Given the description of an element on the screen output the (x, y) to click on. 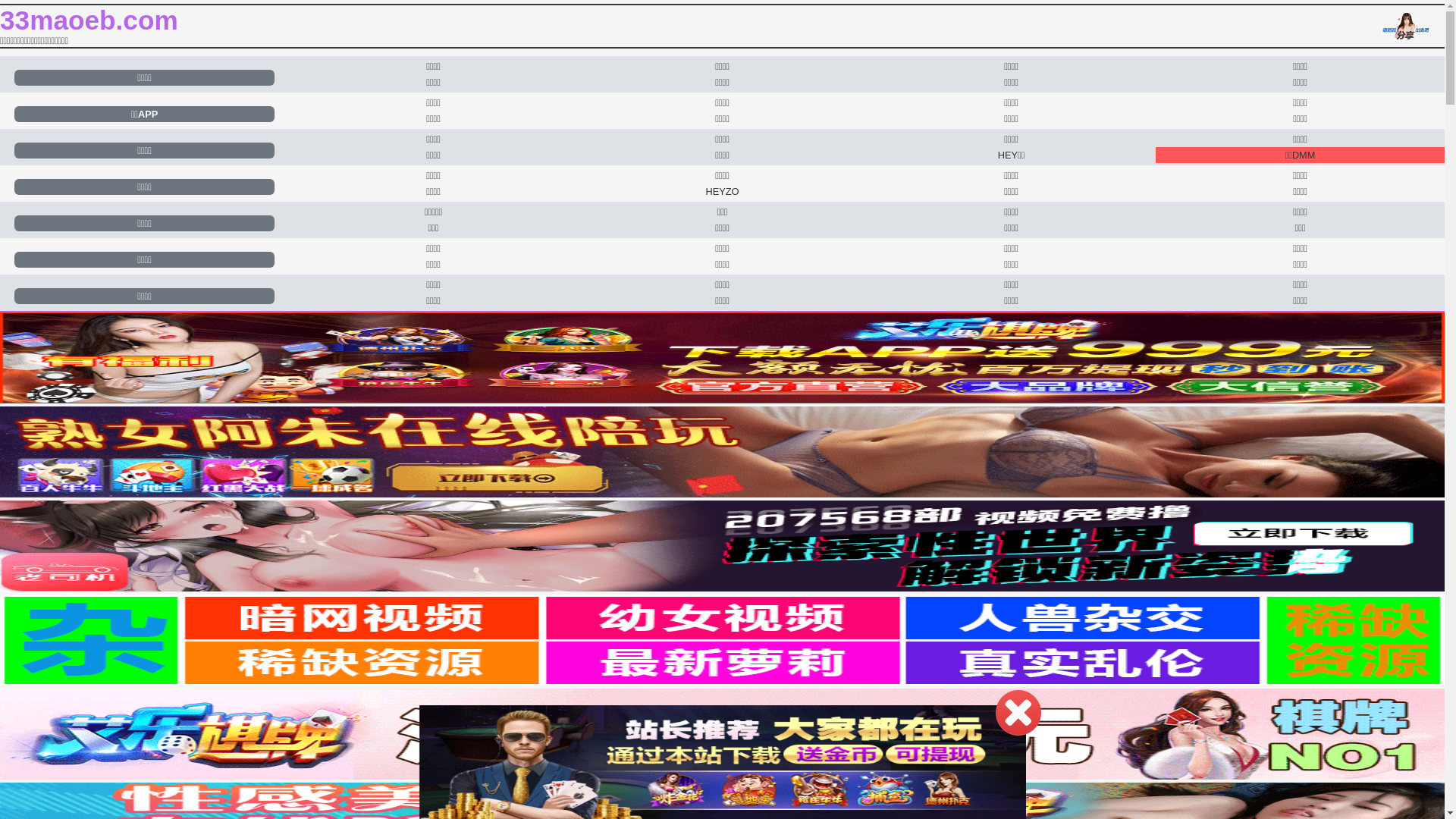
HEYZO Element type: text (722, 191)
